Given the description of an element on the screen output the (x, y) to click on. 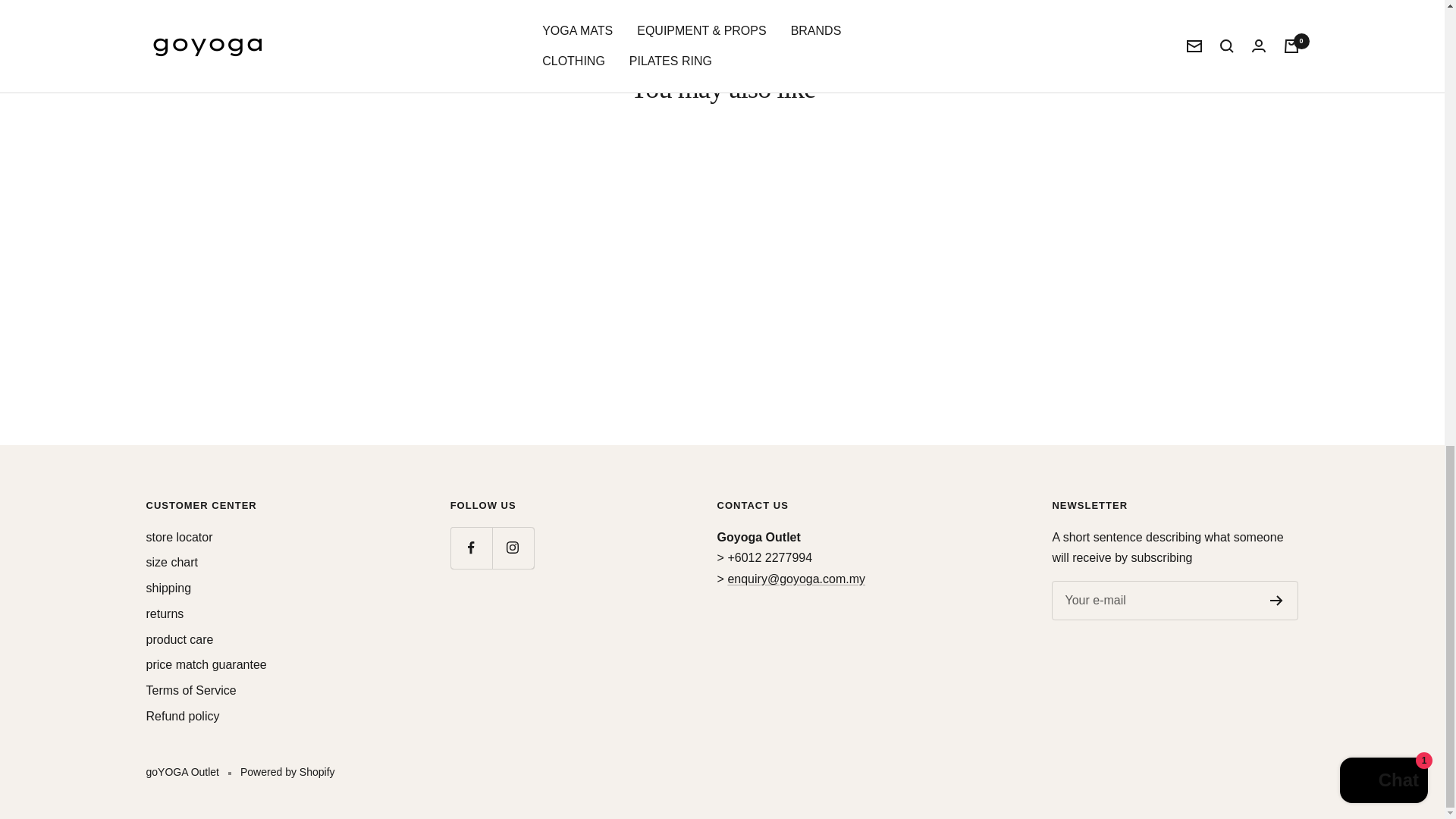
Register (1275, 600)
